Given the description of an element on the screen output the (x, y) to click on. 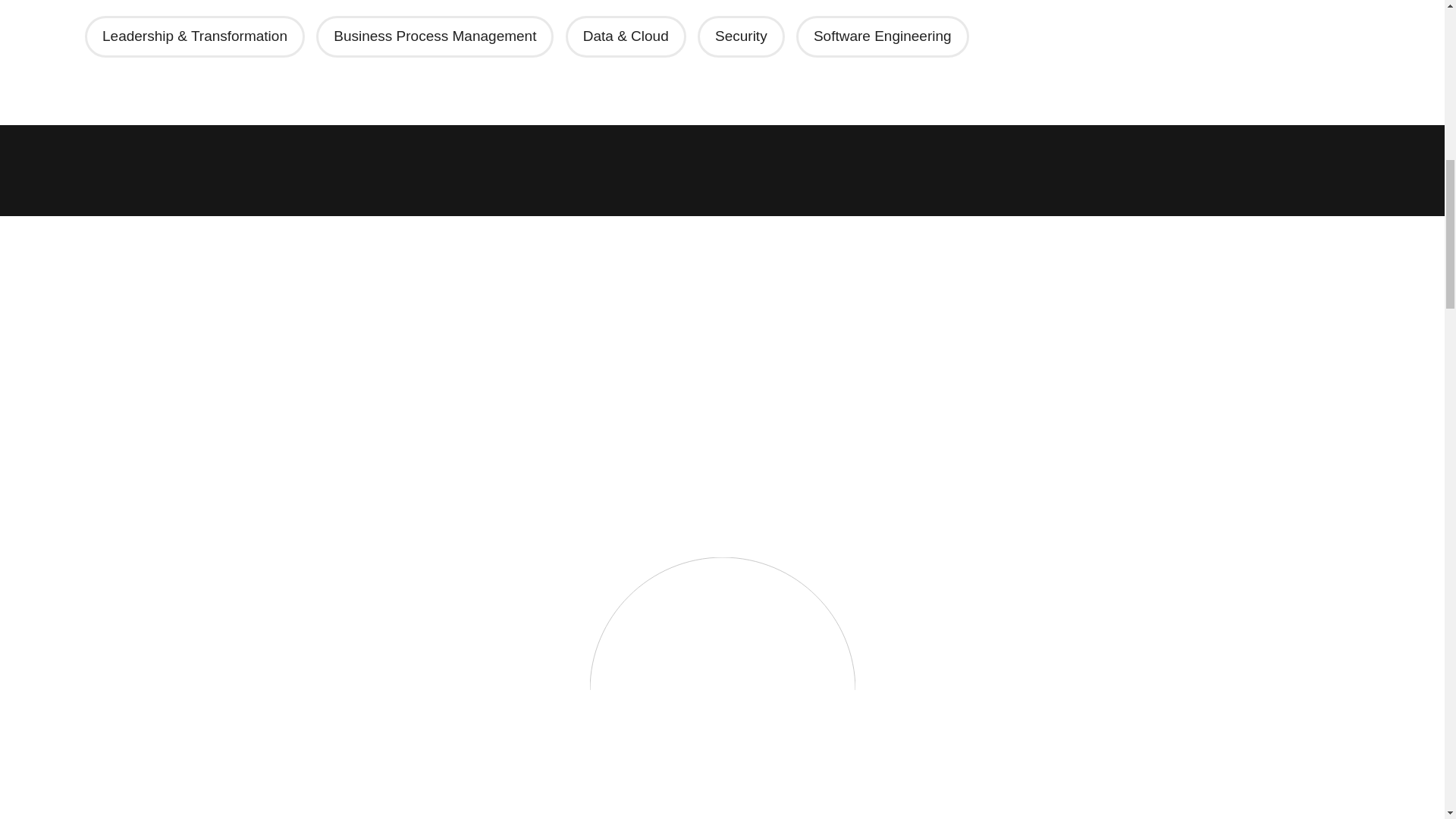
Business Process Management (434, 36)
Software Engineering (881, 36)
Security (741, 36)
